Given the description of an element on the screen output the (x, y) to click on. 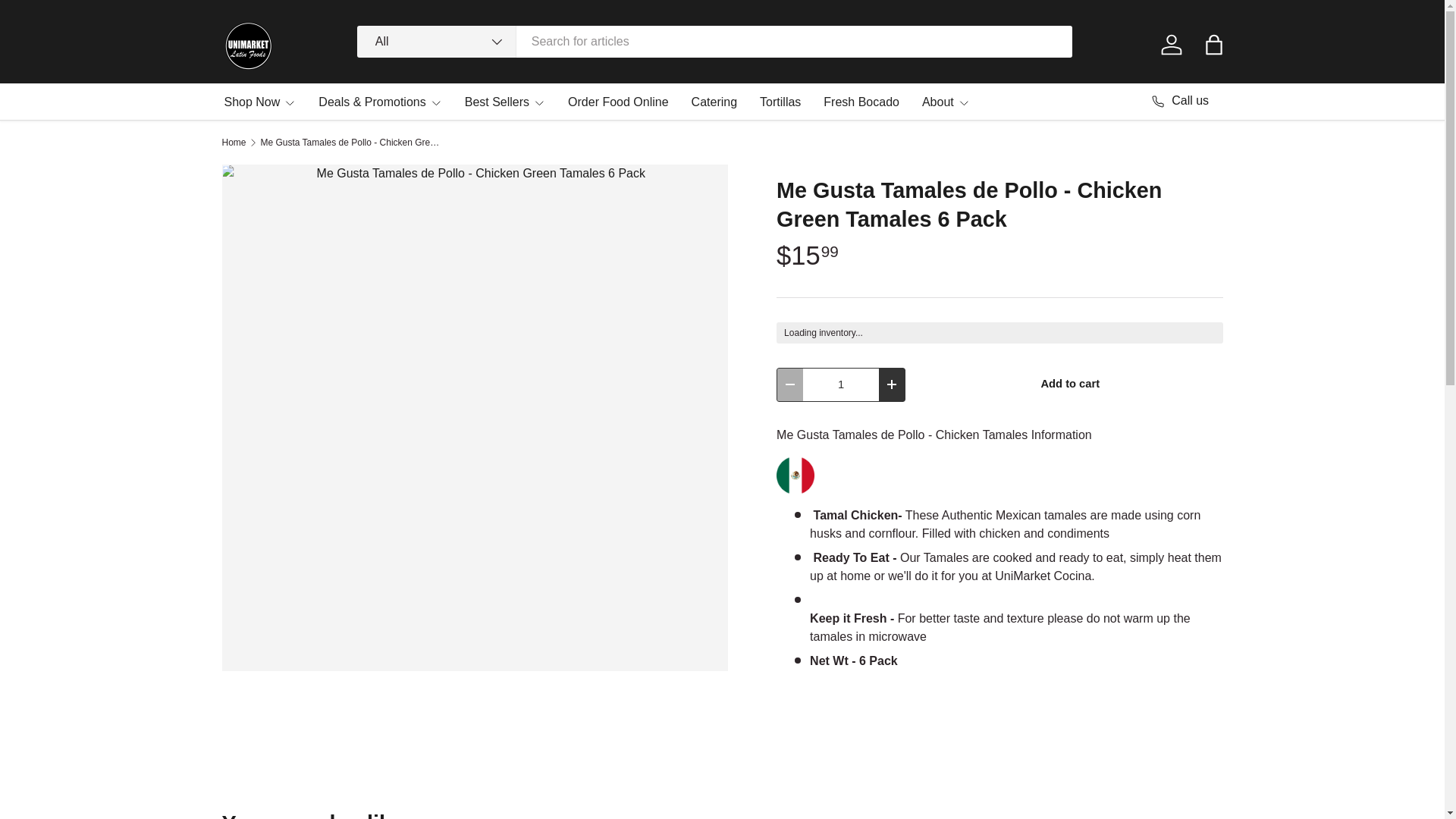
All (436, 41)
Skip to content (64, 21)
Shop Now (260, 101)
1 (841, 384)
Log in (1171, 44)
Bag (1213, 44)
